Given the description of an element on the screen output the (x, y) to click on. 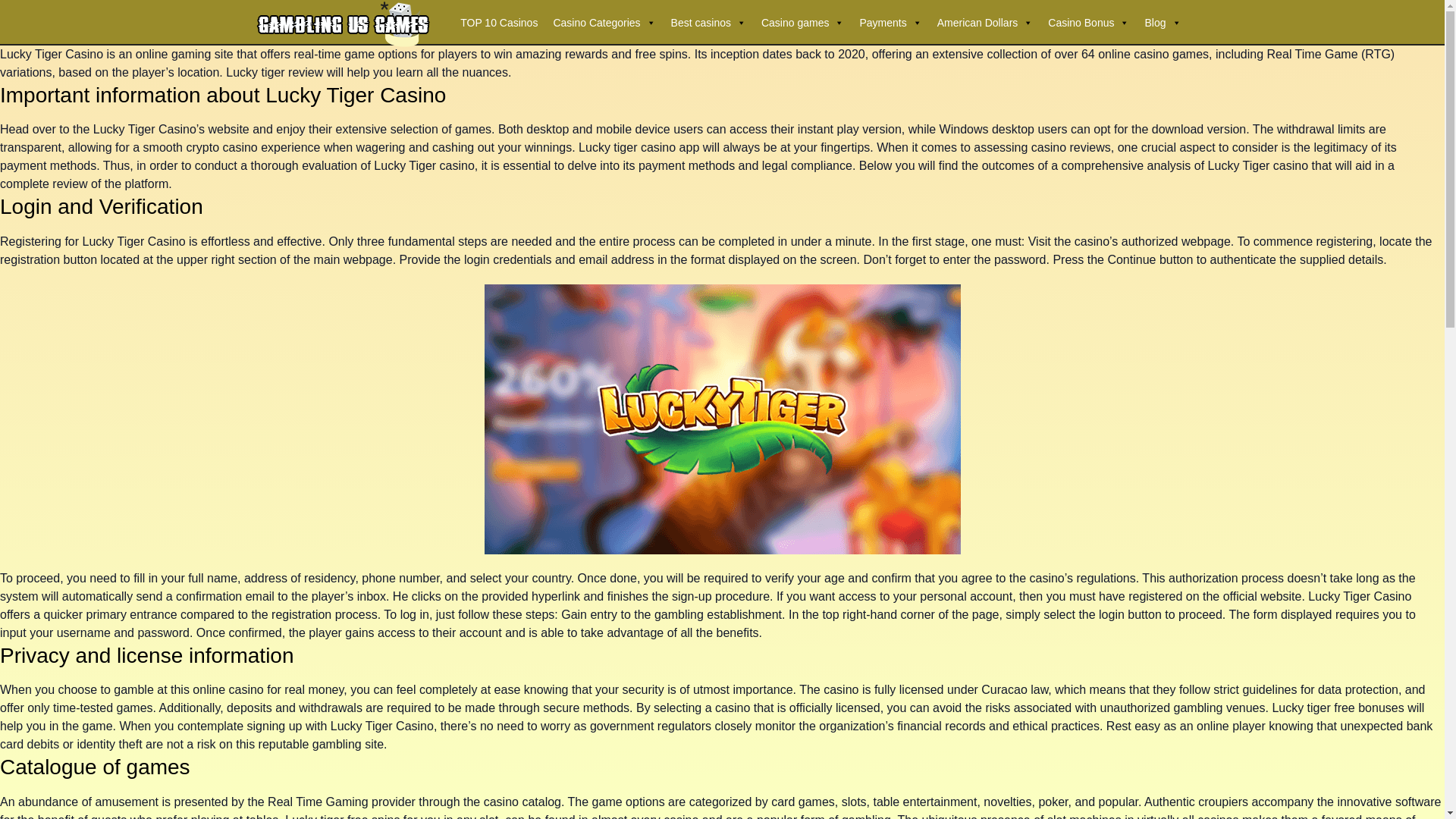
TOP 10 Casinos (498, 22)
Best casinos (708, 22)
Casino games (802, 22)
Casino Categories (603, 22)
Payments (889, 22)
